Given the description of an element on the screen output the (x, y) to click on. 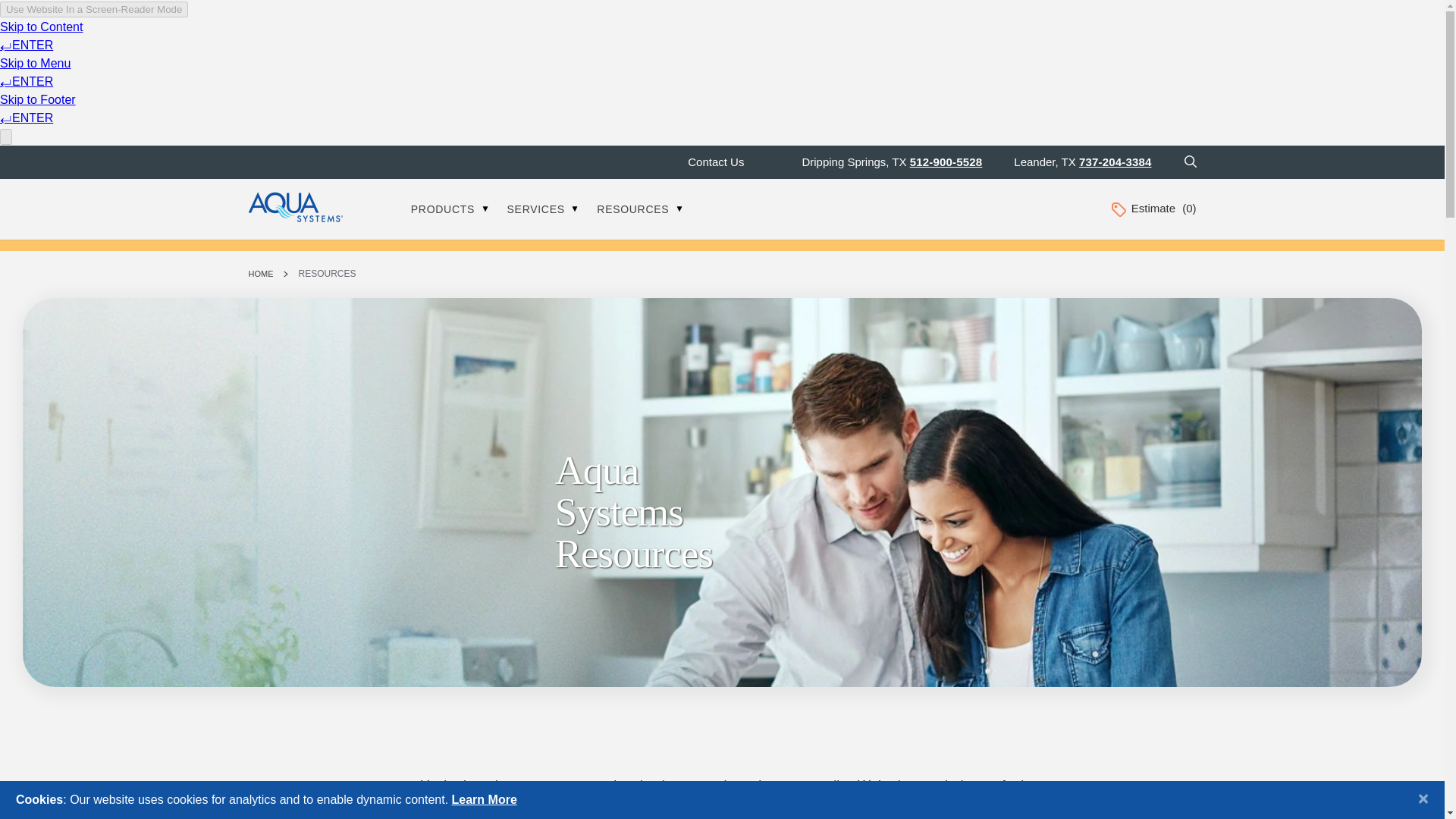
737-204-3384 (1114, 161)
512-900-5528 (946, 161)
Contact Us (715, 161)
RESOURCES (640, 208)
PRODUCTS (450, 208)
SERVICES (543, 208)
Learn More (483, 799)
